Given the description of an element on the screen output the (x, y) to click on. 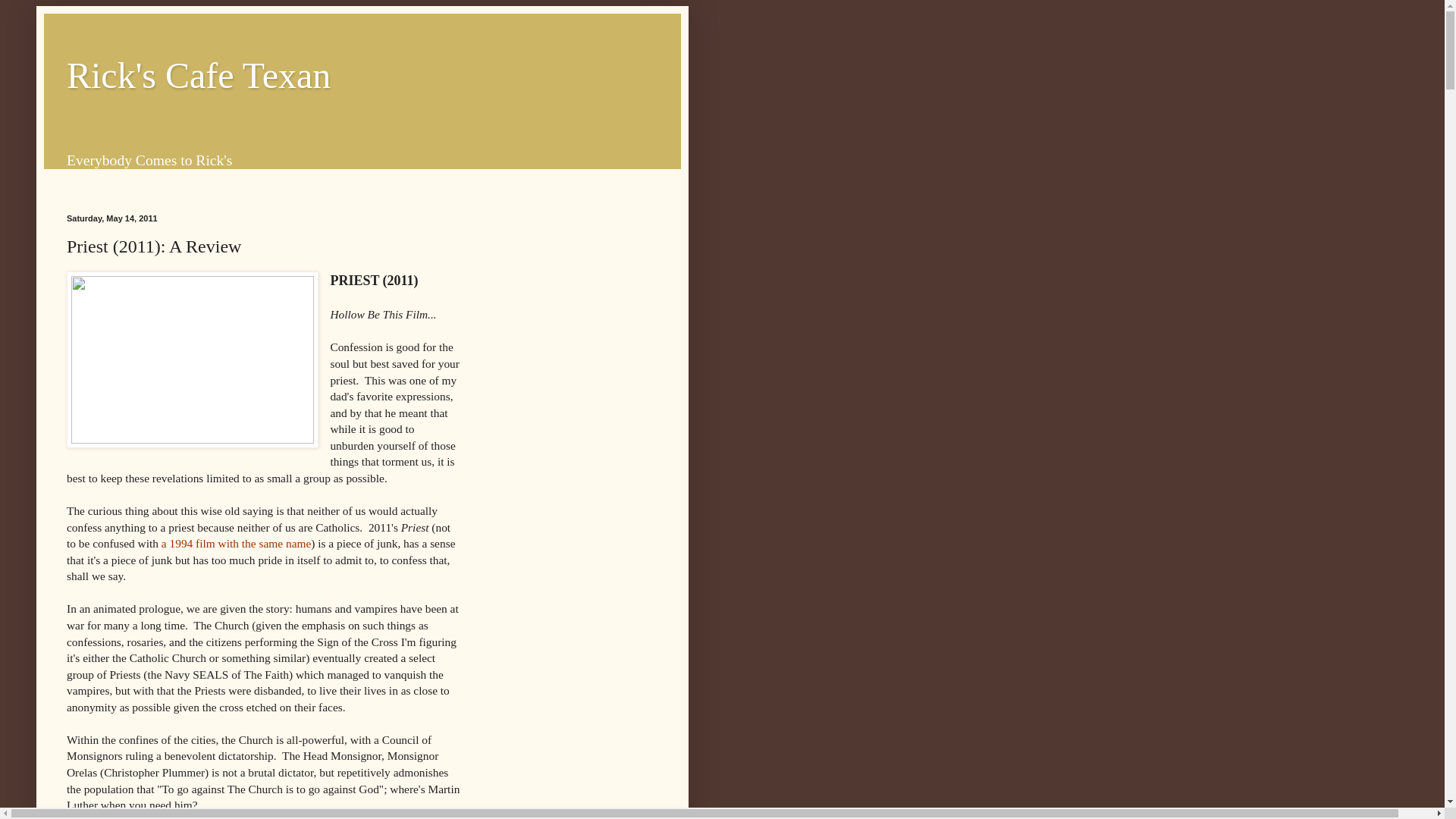
a 1994 film with the same name (236, 543)
Rick's Cafe Texan (198, 75)
